Given the description of an element on the screen output the (x, y) to click on. 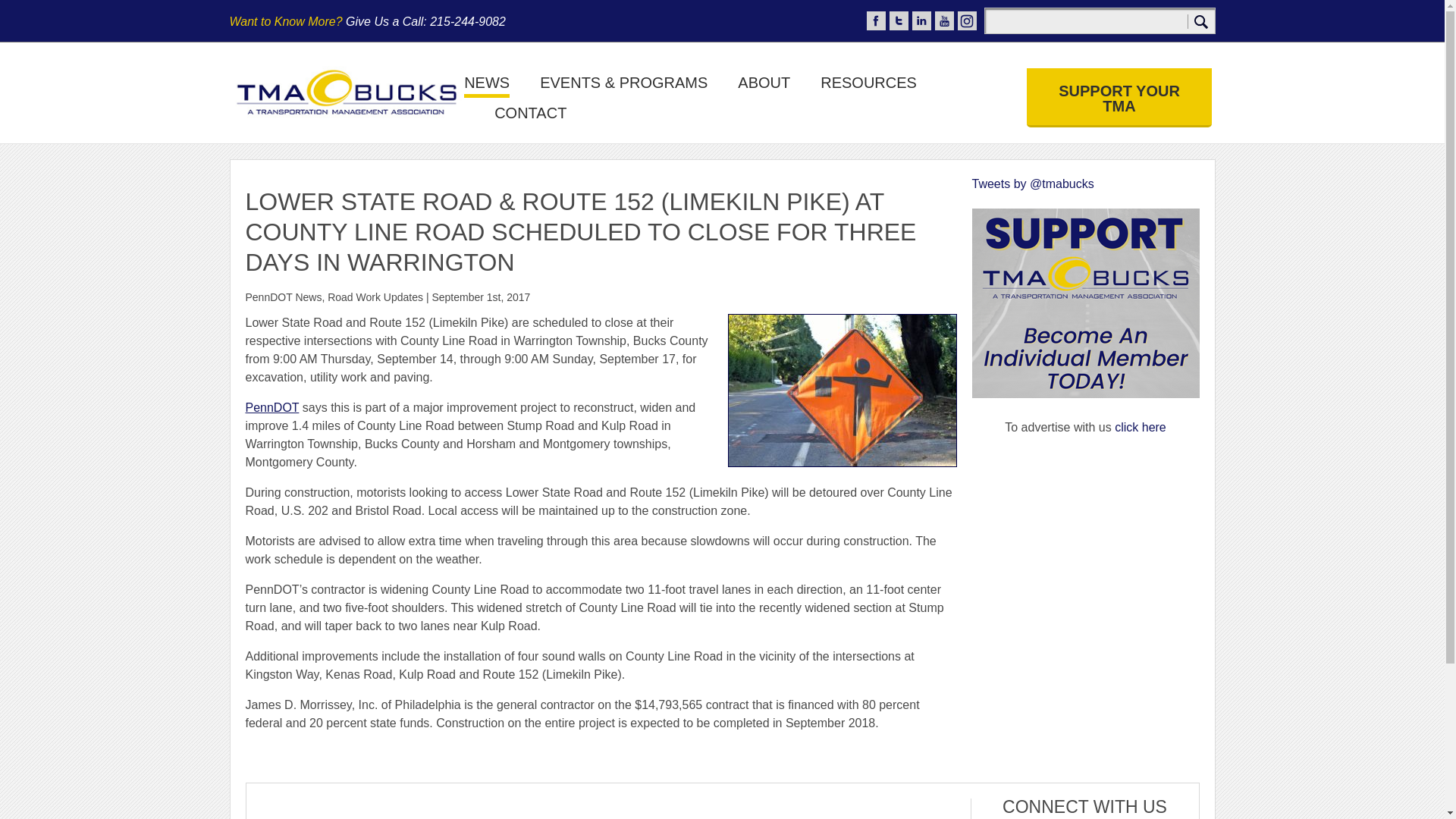
CONTACT (530, 116)
SUPPORT YOUR TMA (1118, 97)
Road Work Updates (375, 297)
RESOURCES (869, 86)
click here (1140, 427)
Search (1201, 21)
ABOUT (764, 86)
Search (1201, 21)
PennDOT News (283, 297)
PennDOT (272, 407)
